Given the description of an element on the screen output the (x, y) to click on. 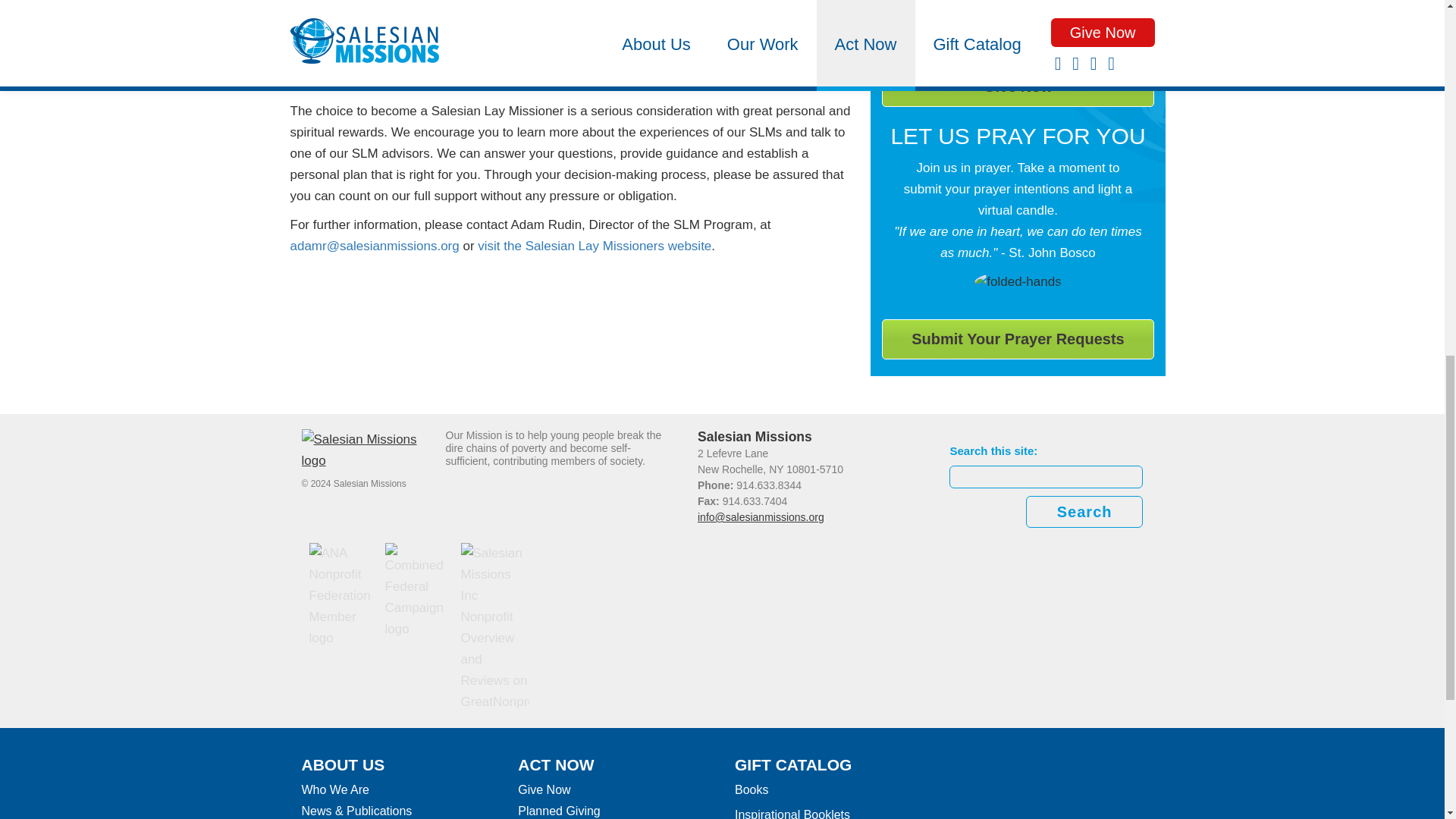
Give (1017, 86)
stories03 (1017, 20)
Submit Your Prayer (1017, 339)
get-involved-right-img (1017, 281)
